Given the description of an element on the screen output the (x, y) to click on. 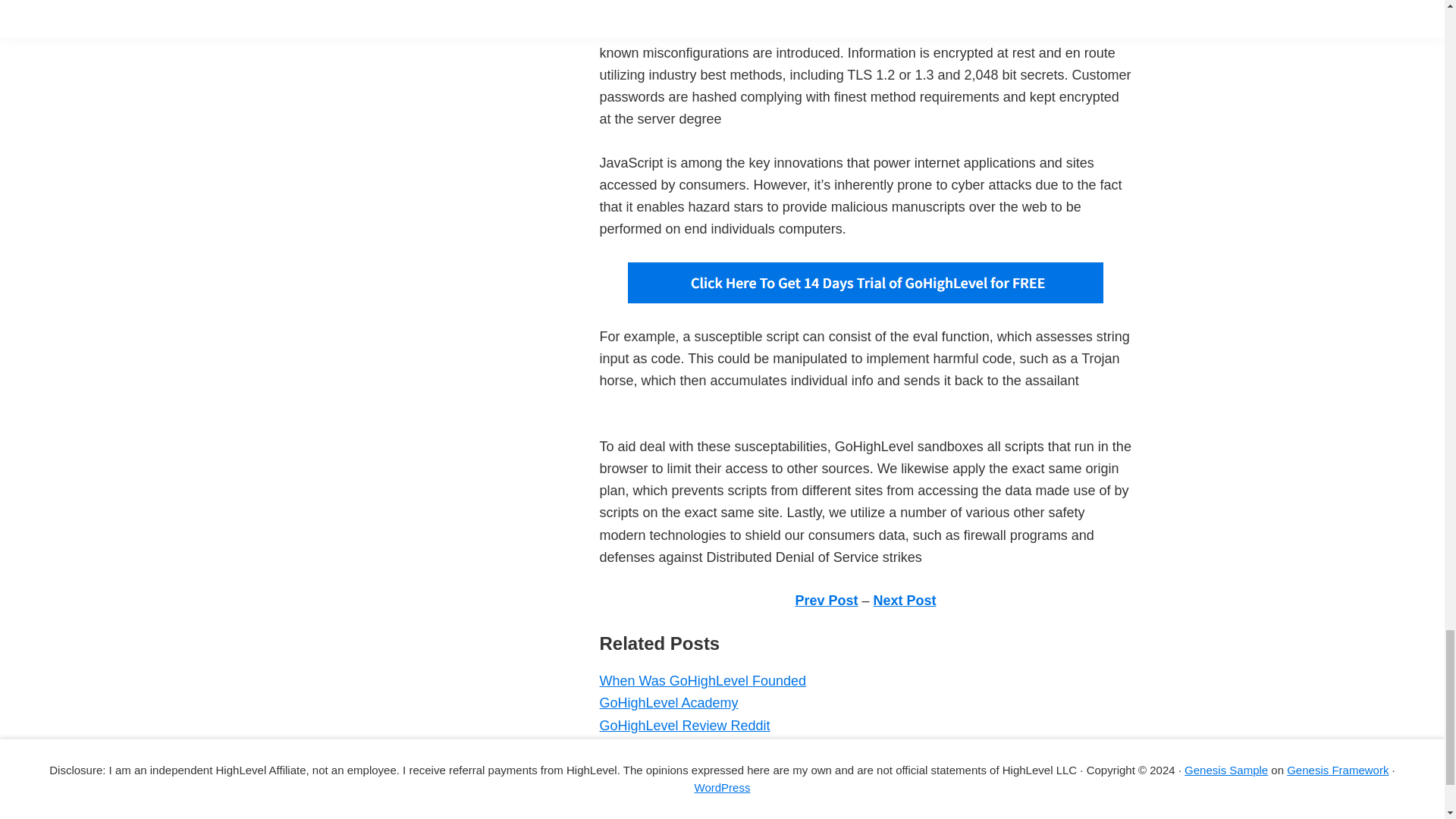
GoHighLevel Academy (668, 702)
GoHighLevel App (651, 791)
When Was GoHighLevel Founded (701, 680)
GoHighLevel Custom Values (685, 769)
GoHighLevel Privacy Policy (682, 812)
GoHighLevel Review Reddit (684, 725)
GoHighLevel Privacy Policy (682, 812)
When Was GoHighLevel Founded (701, 680)
Next Post (904, 600)
GoHighLevel Custom Values (685, 769)
